Given the description of an element on the screen output the (x, y) to click on. 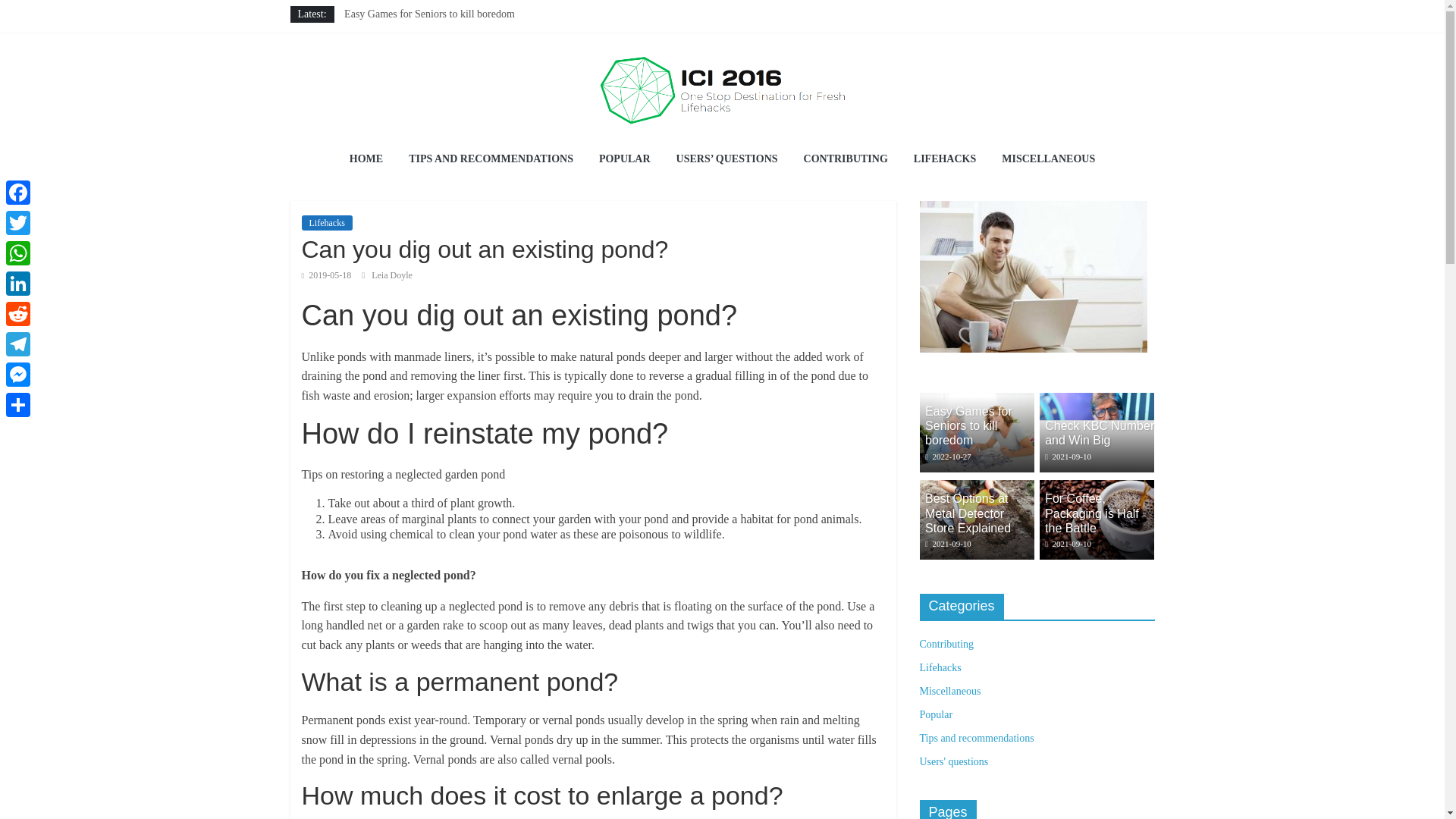
Easy Games for Seniors to kill boredom (967, 425)
HOME (365, 159)
2022-10-27 (947, 456)
2019-05-18 (326, 275)
LIFEHACKS (944, 159)
12:45 (947, 456)
Easy Games for Seniors to kill boredom (975, 400)
2021-09-10 (1067, 456)
Easy Games for Seniors to kill boredom (429, 13)
Lifehacks (326, 222)
MISCELLANEOUS (1048, 159)
CONTRIBUTING (845, 159)
Leia Doyle (391, 275)
